Given the description of an element on the screen output the (x, y) to click on. 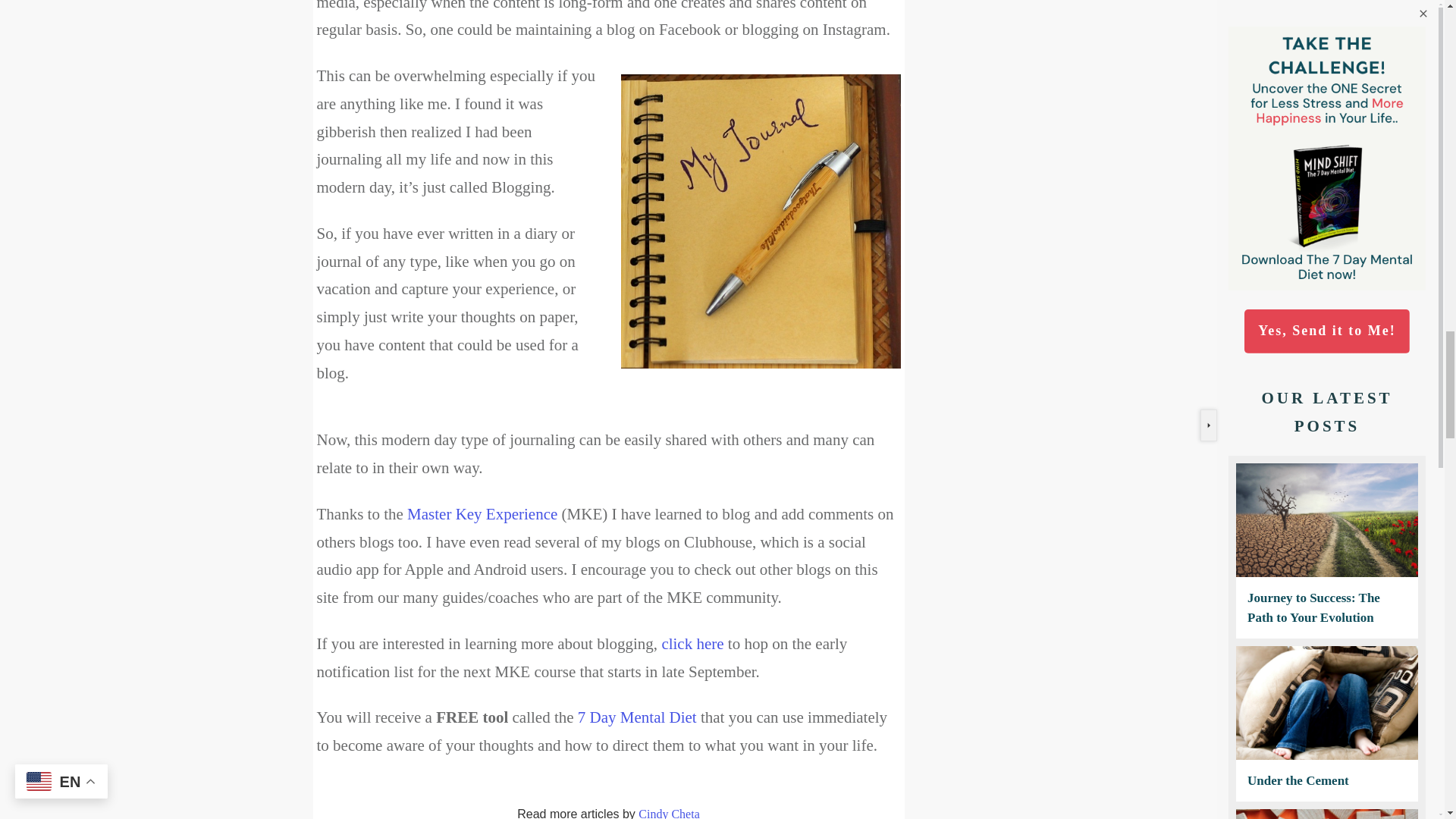
Master Key Experience (482, 514)
Cindy Cheta (668, 813)
7 Day Mental Diet (637, 717)
click here (692, 643)
Cindy Cheta (668, 813)
